Given the description of an element on the screen output the (x, y) to click on. 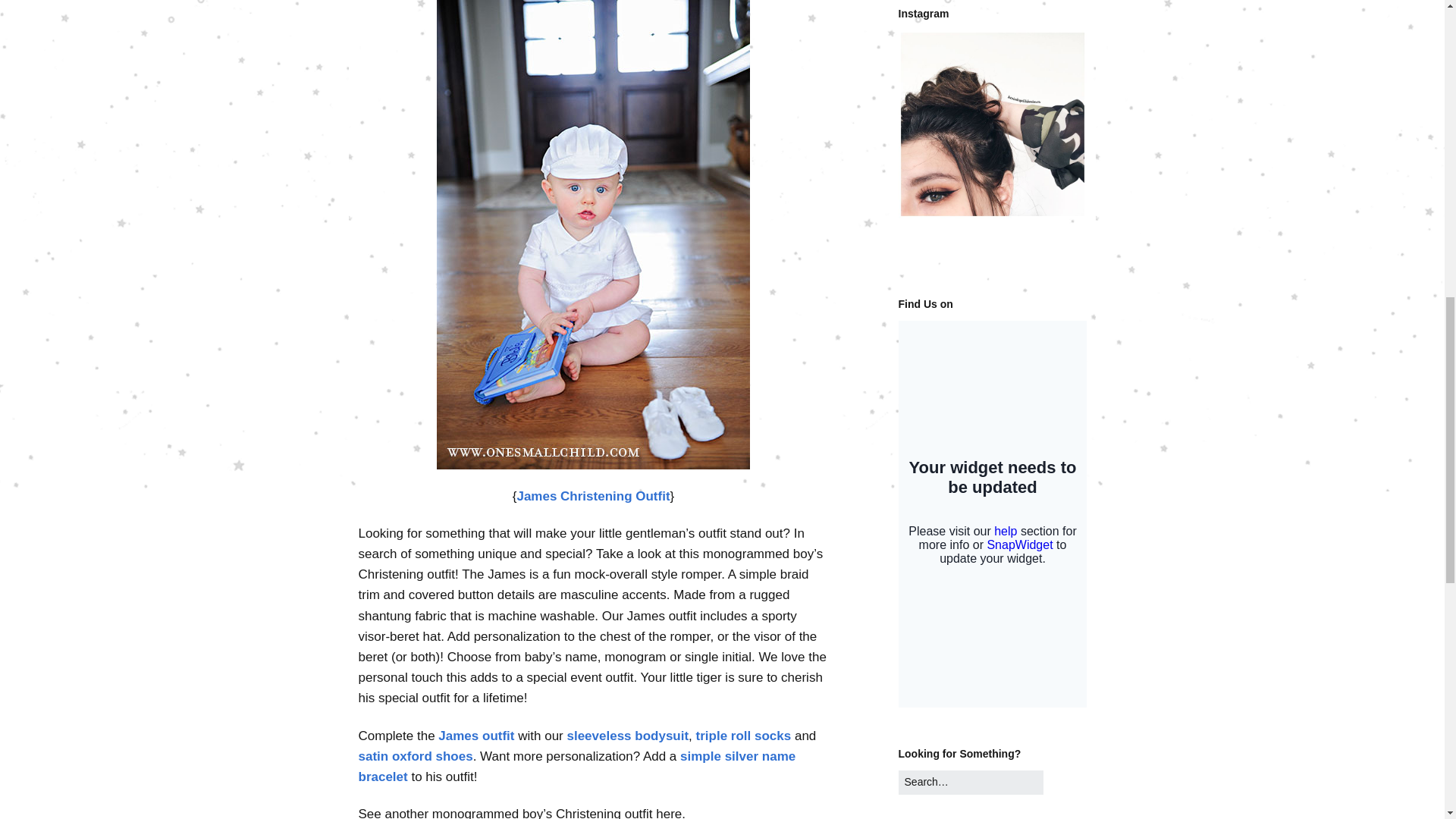
Press Enter to submit your search (970, 782)
